Given the description of an element on the screen output the (x, y) to click on. 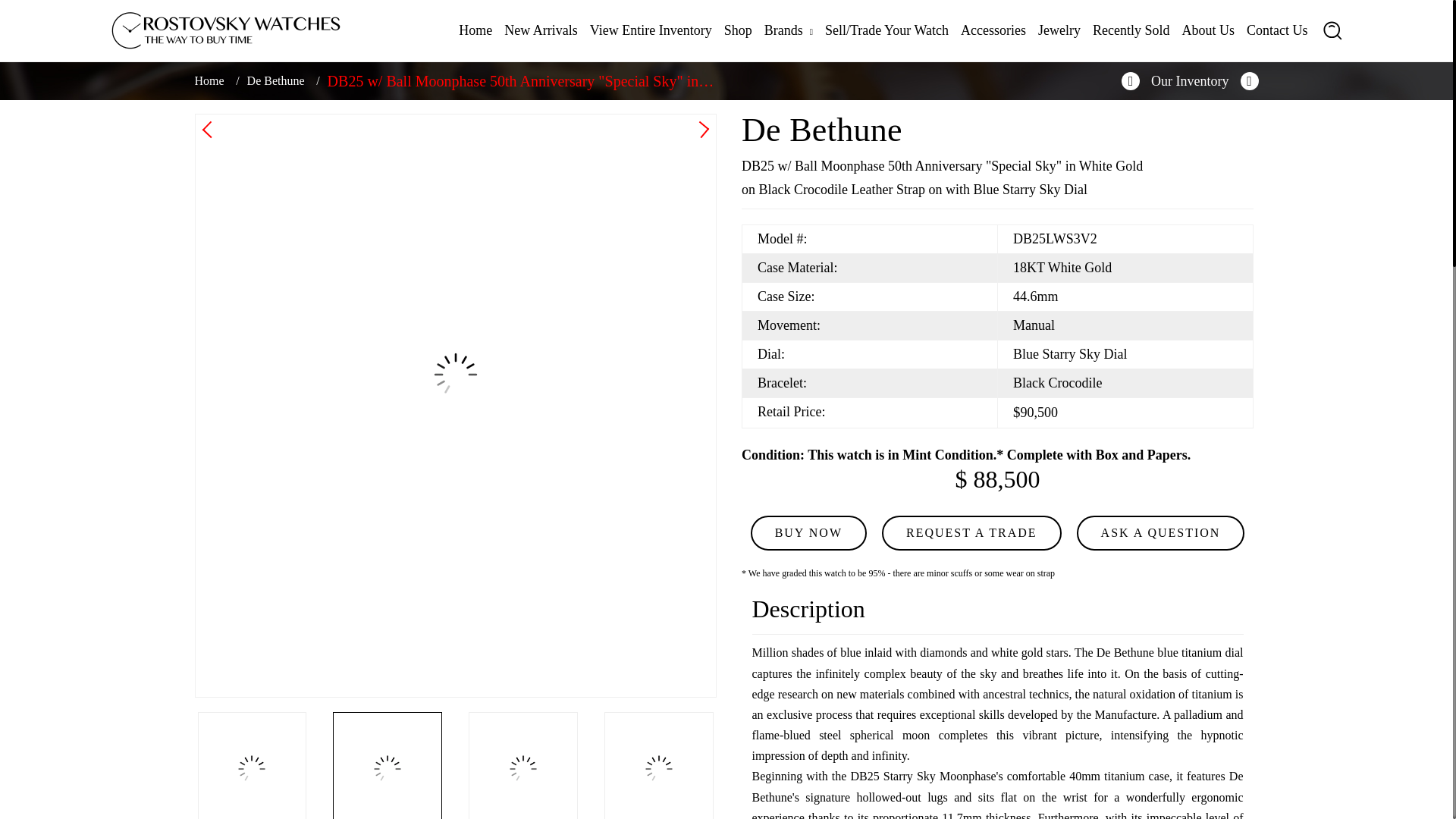
View Entire Inventory (650, 30)
New Arrivals (540, 30)
Brands (788, 30)
